Given the description of an element on the screen output the (x, y) to click on. 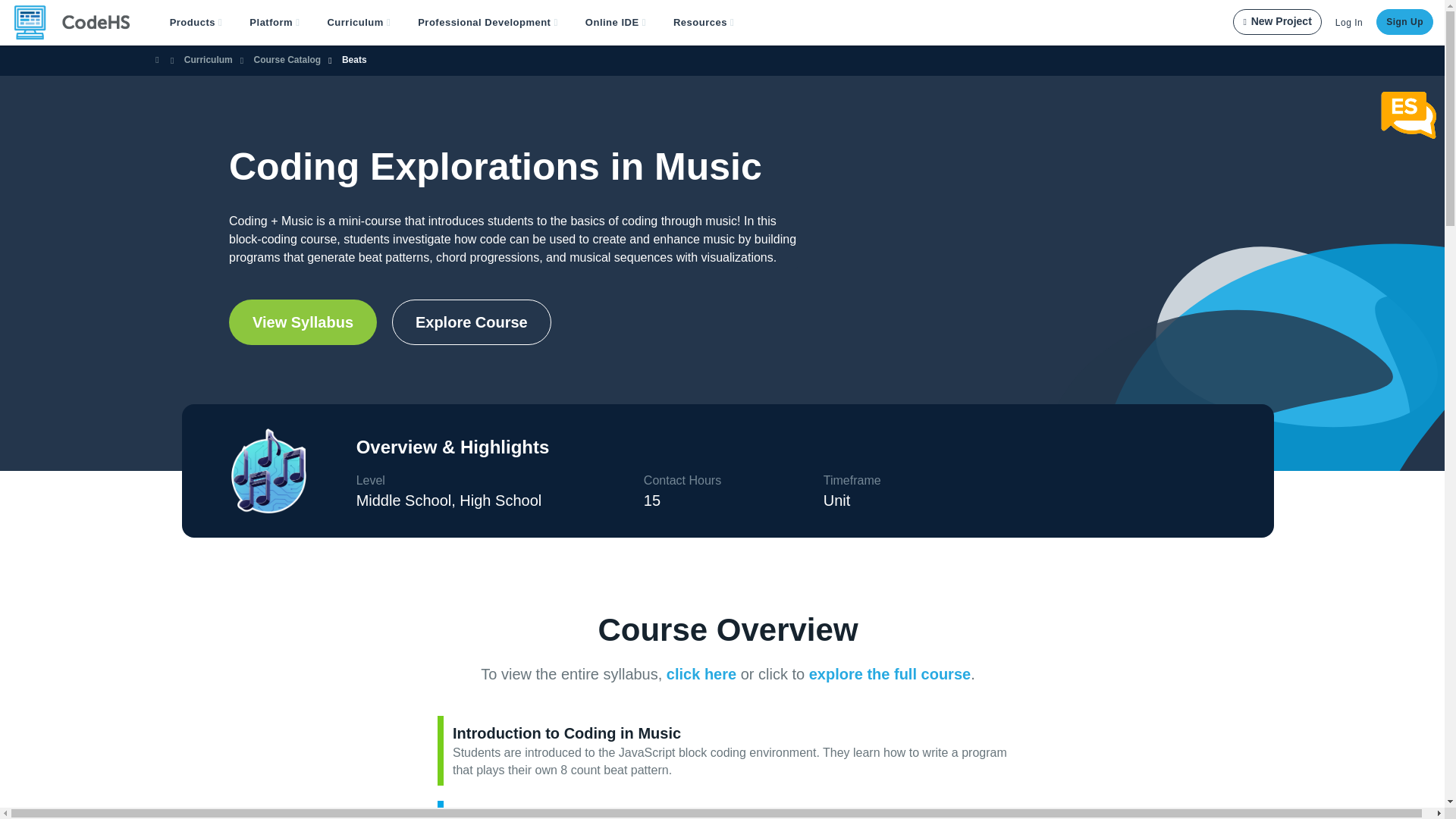
Curriculum (358, 22)
Products (195, 22)
Platform (274, 22)
